Given the description of an element on the screen output the (x, y) to click on. 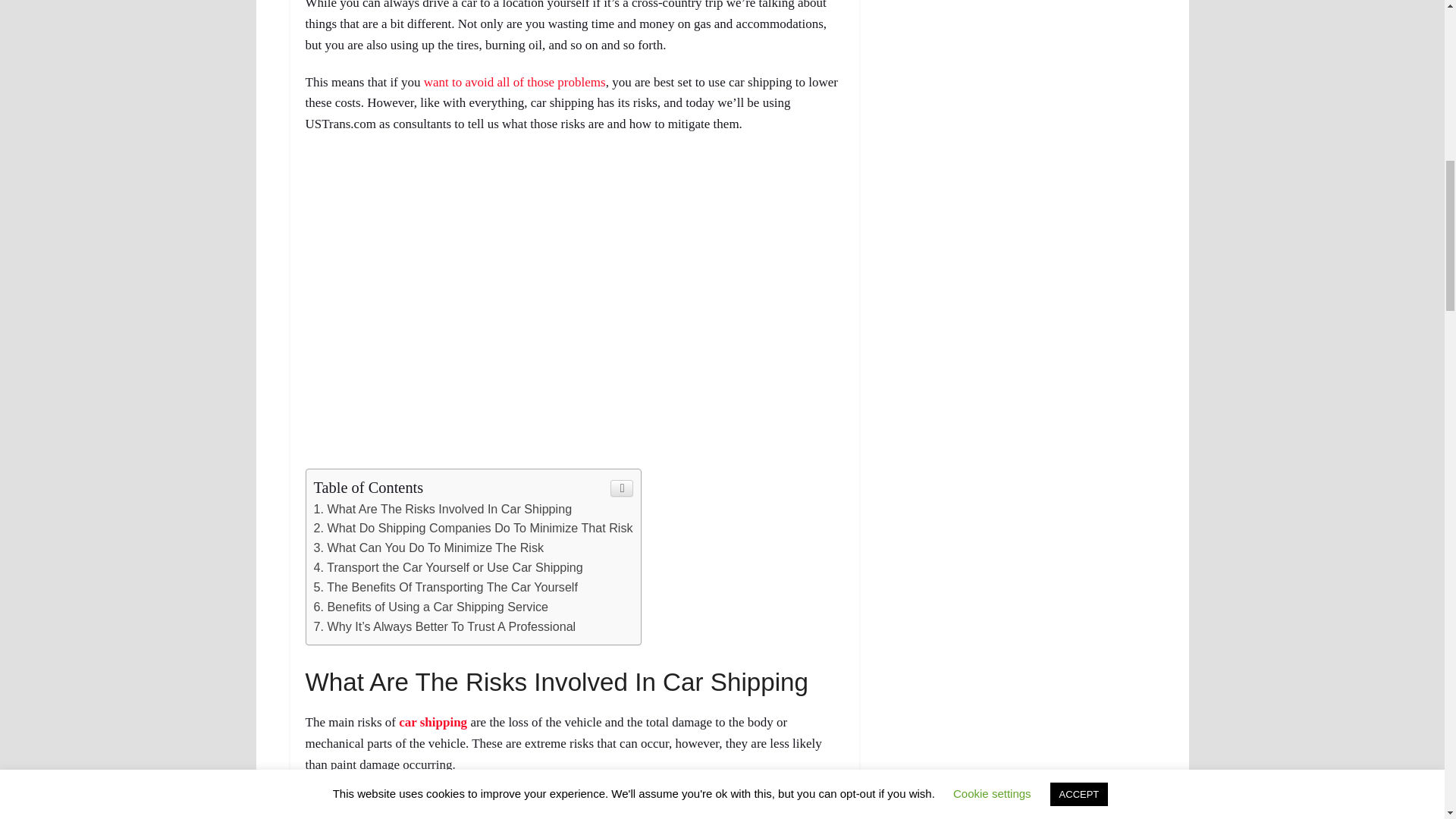
What Are The Risks Involved In Car Shipping (443, 508)
What Do Shipping Companies Do To Minimize That Risk (473, 527)
Transport the Car Yourself or Use Car Shipping (448, 567)
The Benefits Of Transporting The Car Yourself (446, 586)
What Can You Do To Minimize The Risk (429, 547)
Benefits of Using a Car Shipping Service (431, 606)
